Given the description of an element on the screen output the (x, y) to click on. 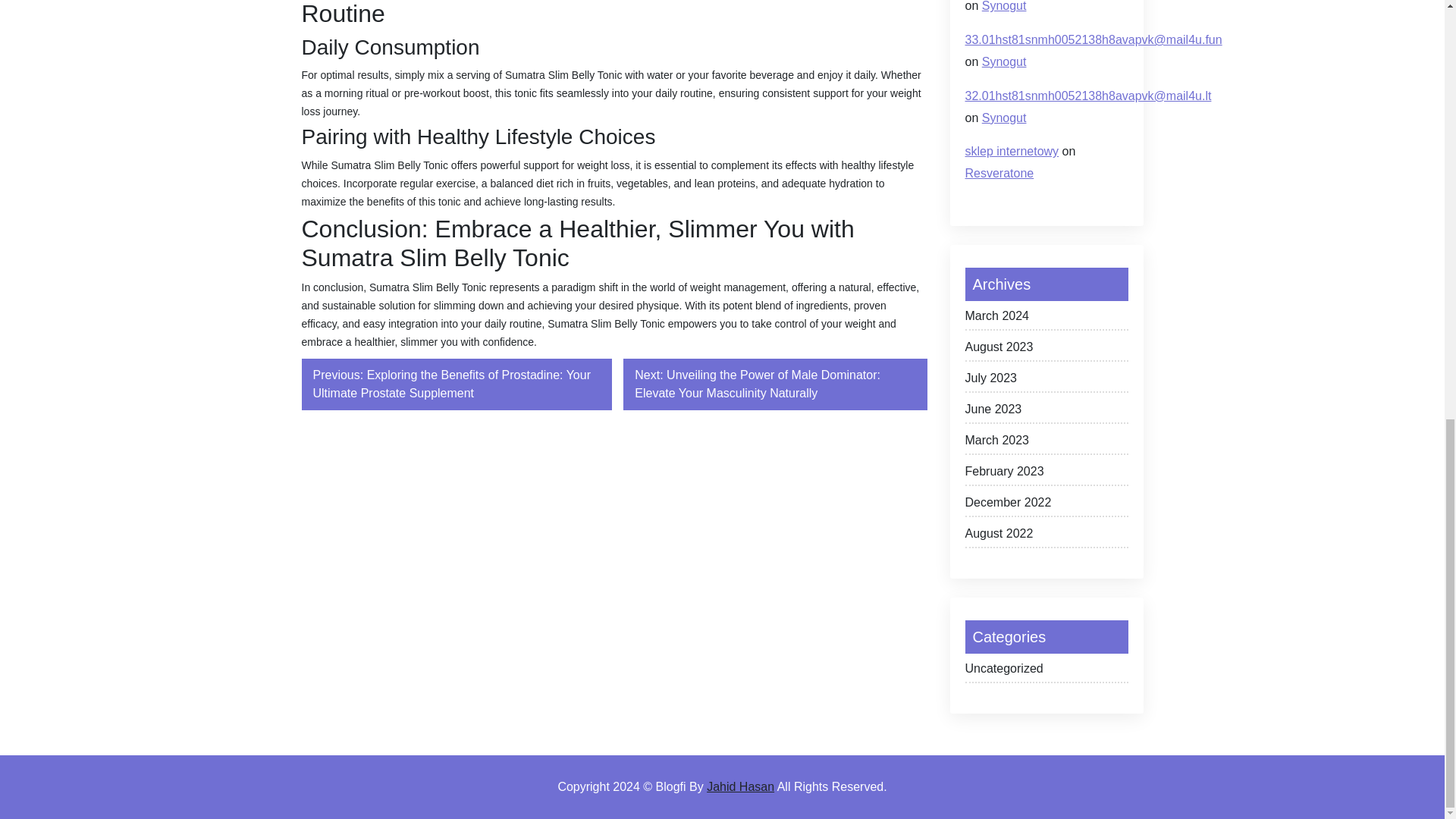
sklep internetowy (1010, 151)
July 2023 (1044, 381)
December 2022 (1044, 504)
Resveratone (998, 173)
February 2023 (1044, 474)
Uncategorized (1044, 671)
Synogut (1003, 6)
Synogut (1003, 117)
August 2022 (1044, 535)
June 2023 (1044, 412)
March 2023 (1044, 443)
Jahid Hasan (740, 786)
March 2024 (1044, 318)
